Given the description of an element on the screen output the (x, y) to click on. 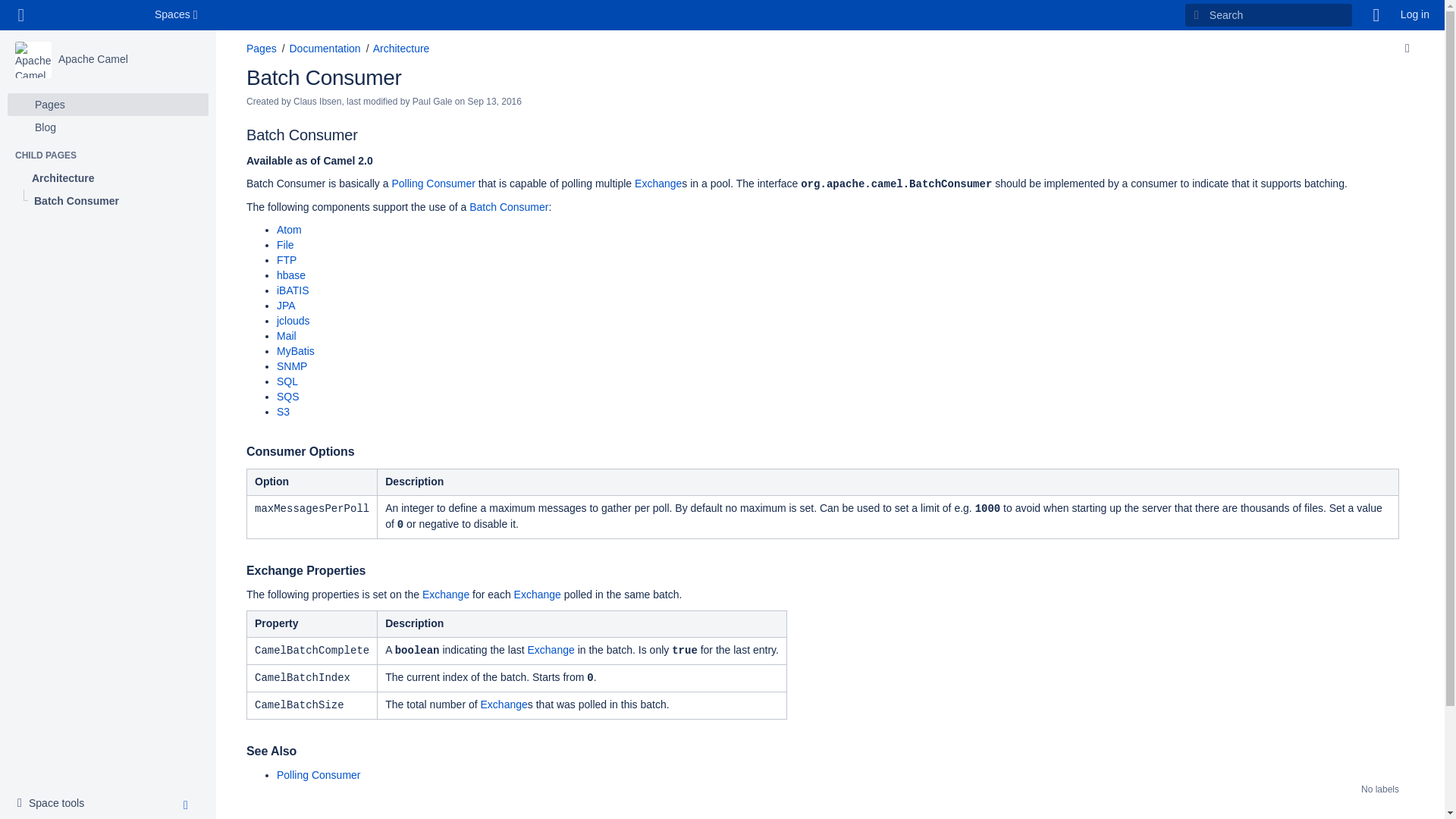
Apache Camel (93, 59)
Pages (261, 48)
Apache Camel (32, 59)
Apache Camel (93, 59)
Pages (107, 104)
Architecture (107, 178)
Apache Software Foundation (54, 803)
Documentation (90, 15)
Blog (323, 48)
